Given the description of an element on the screen output the (x, y) to click on. 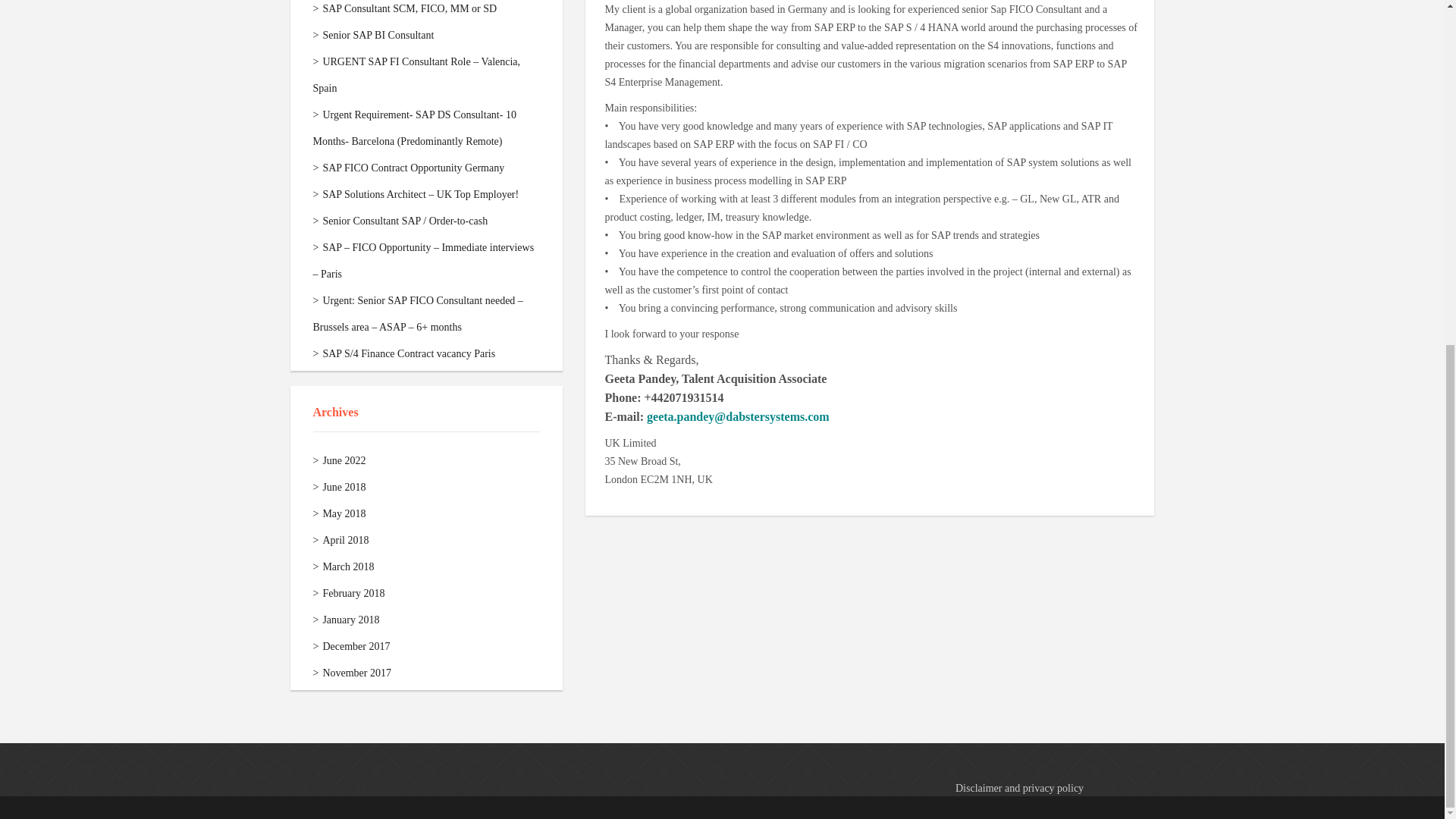
Senior SAP BI Consultant (373, 34)
March 2018 (343, 566)
April 2018 (340, 540)
Disclaimer and privacy policy (1019, 787)
June 2022 (339, 460)
February 2018 (348, 593)
SAP FICO Contract Opportunity Germany (408, 167)
January 2018 (345, 619)
May 2018 (339, 513)
November 2017 (352, 672)
SAP Consultant SCM, FICO, MM or SD (404, 8)
June 2018 (339, 487)
December 2017 (351, 645)
